Given the description of an element on the screen output the (x, y) to click on. 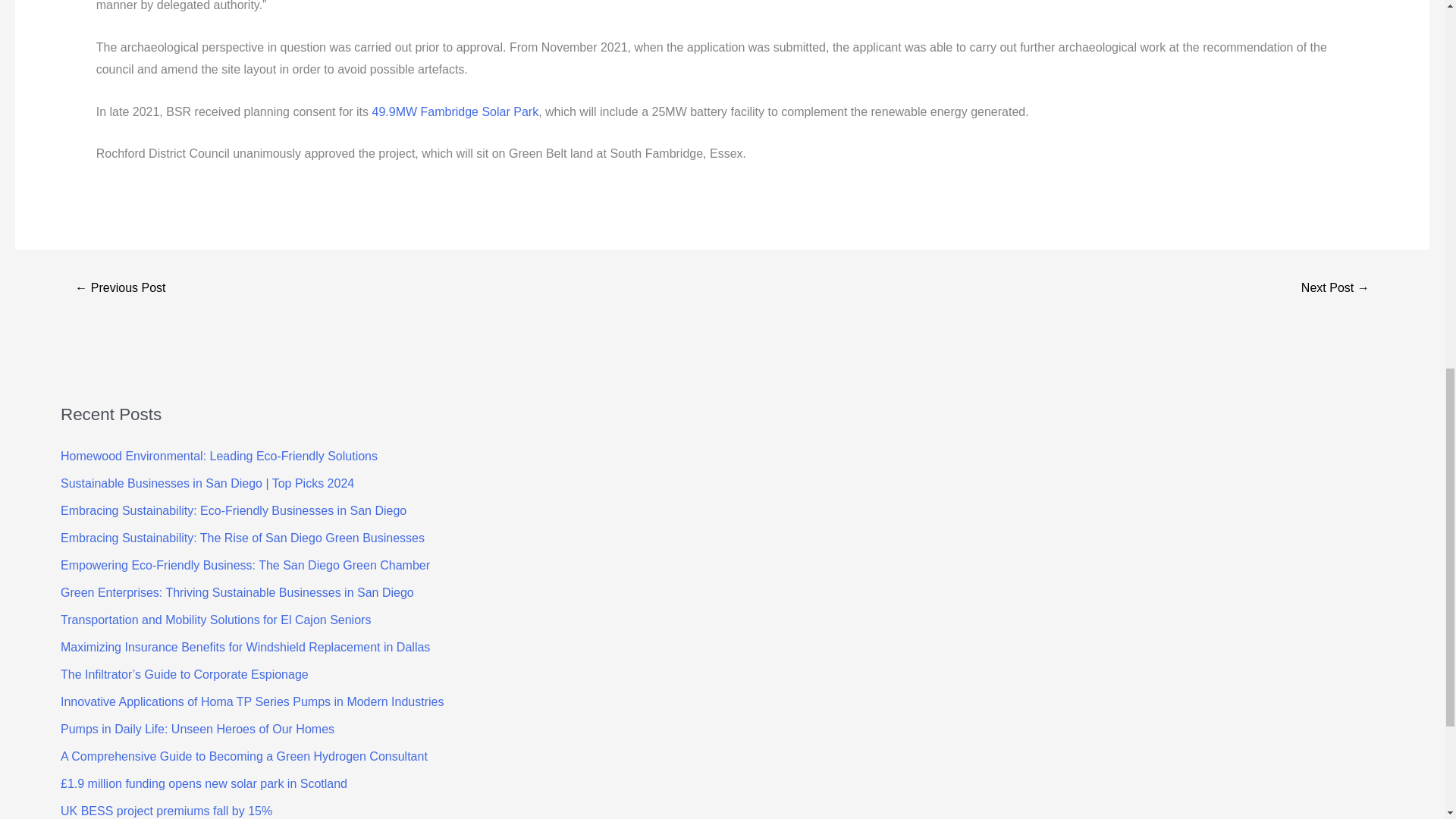
Pumps in Daily Life: Unseen Heroes of Our Homes (197, 728)
49.9MW Fambridge Solar Park (453, 111)
Homewood Environmental: Leading Eco-Friendly Solutions (219, 455)
Transportation and Mobility Solutions for El Cajon Seniors (216, 619)
